Given the description of an element on the screen output the (x, y) to click on. 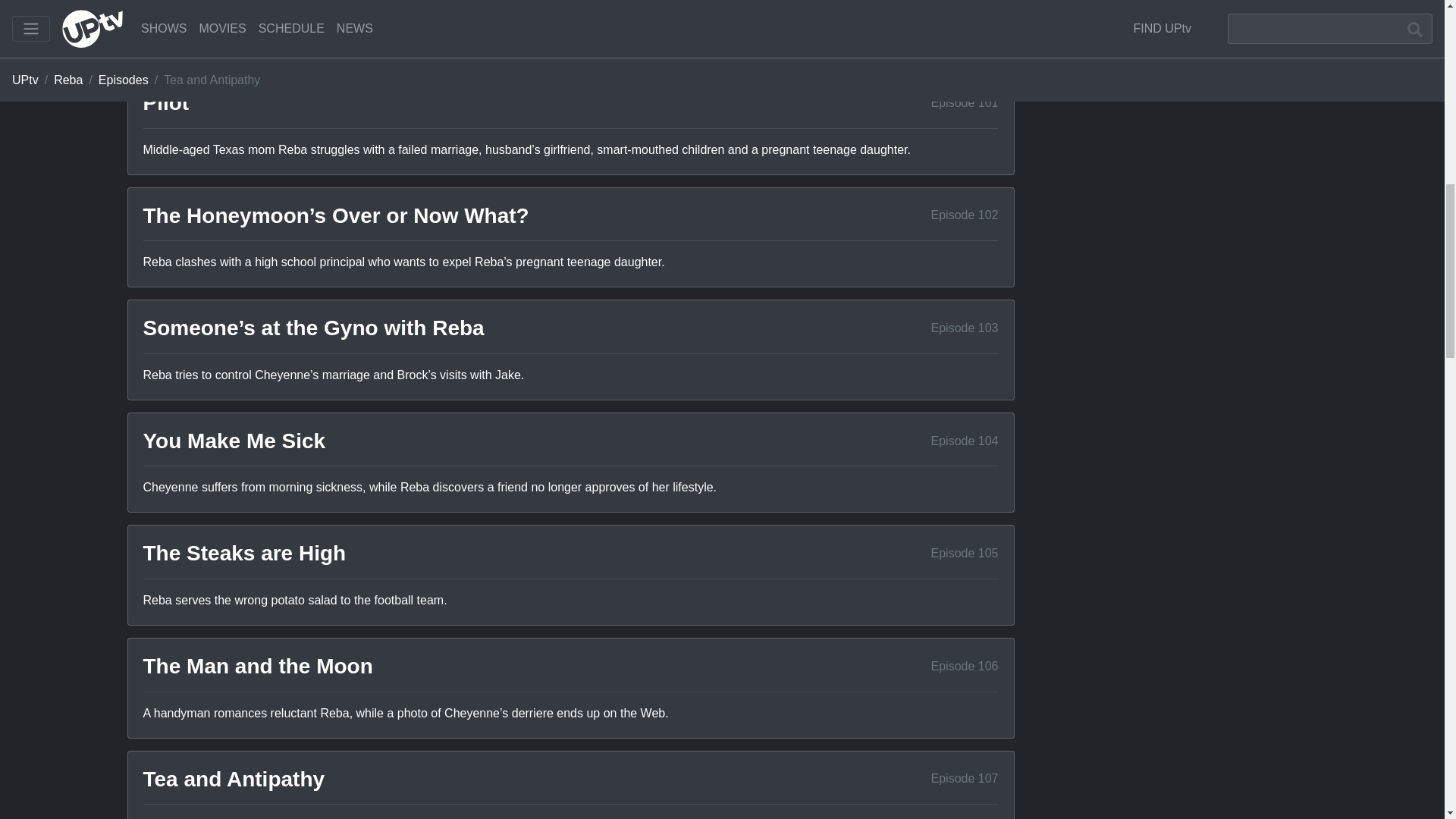
You Make Me Sick (233, 440)
Pilot (165, 102)
Browse All Episodes (959, 40)
The Man and the Moon (257, 666)
The Steaks are High (244, 553)
Tea and Antipathy (233, 779)
